Given the description of an element on the screen output the (x, y) to click on. 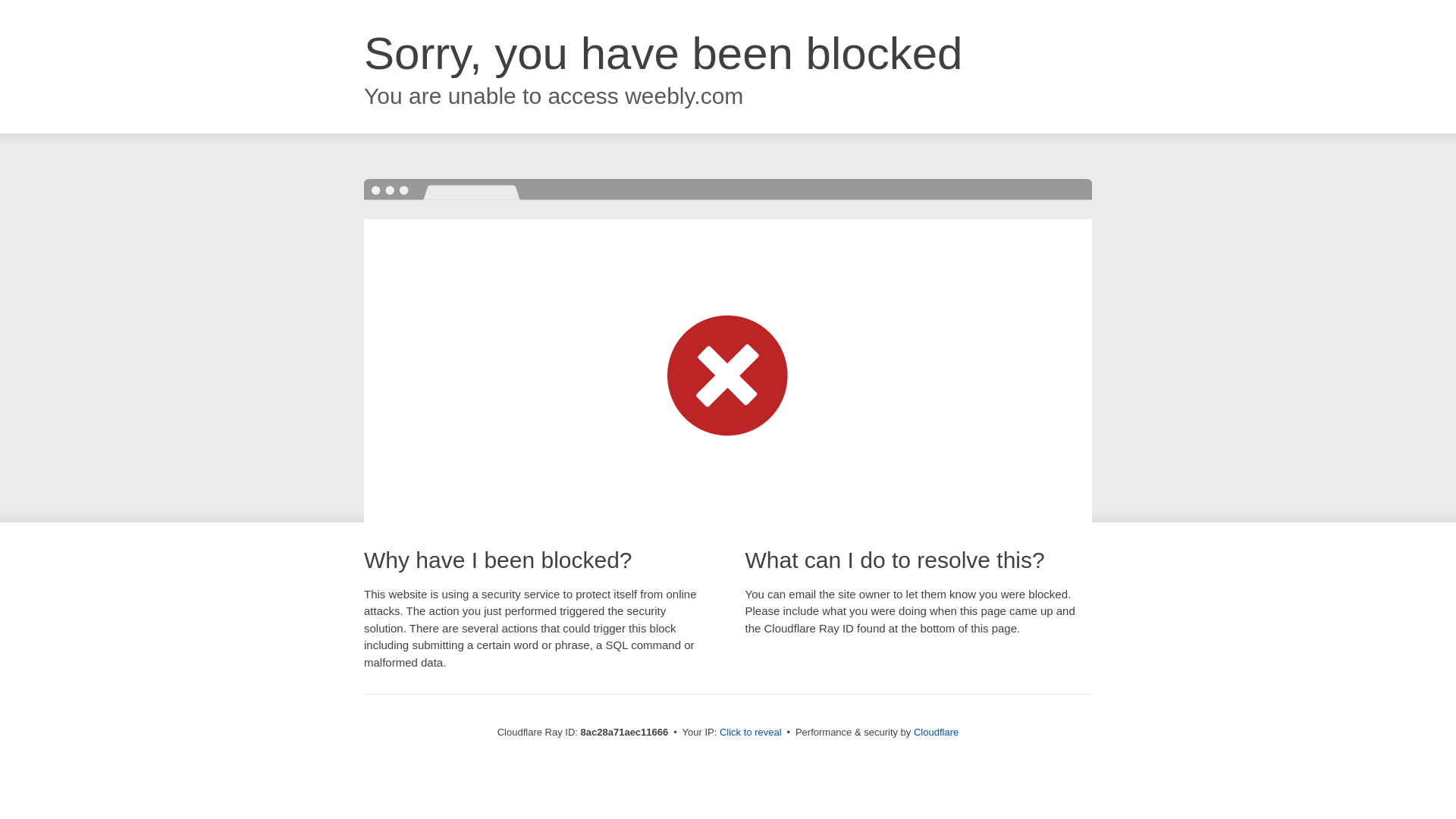
Cloudflare (936, 731)
Click to reveal (750, 732)
